Given the description of an element on the screen output the (x, y) to click on. 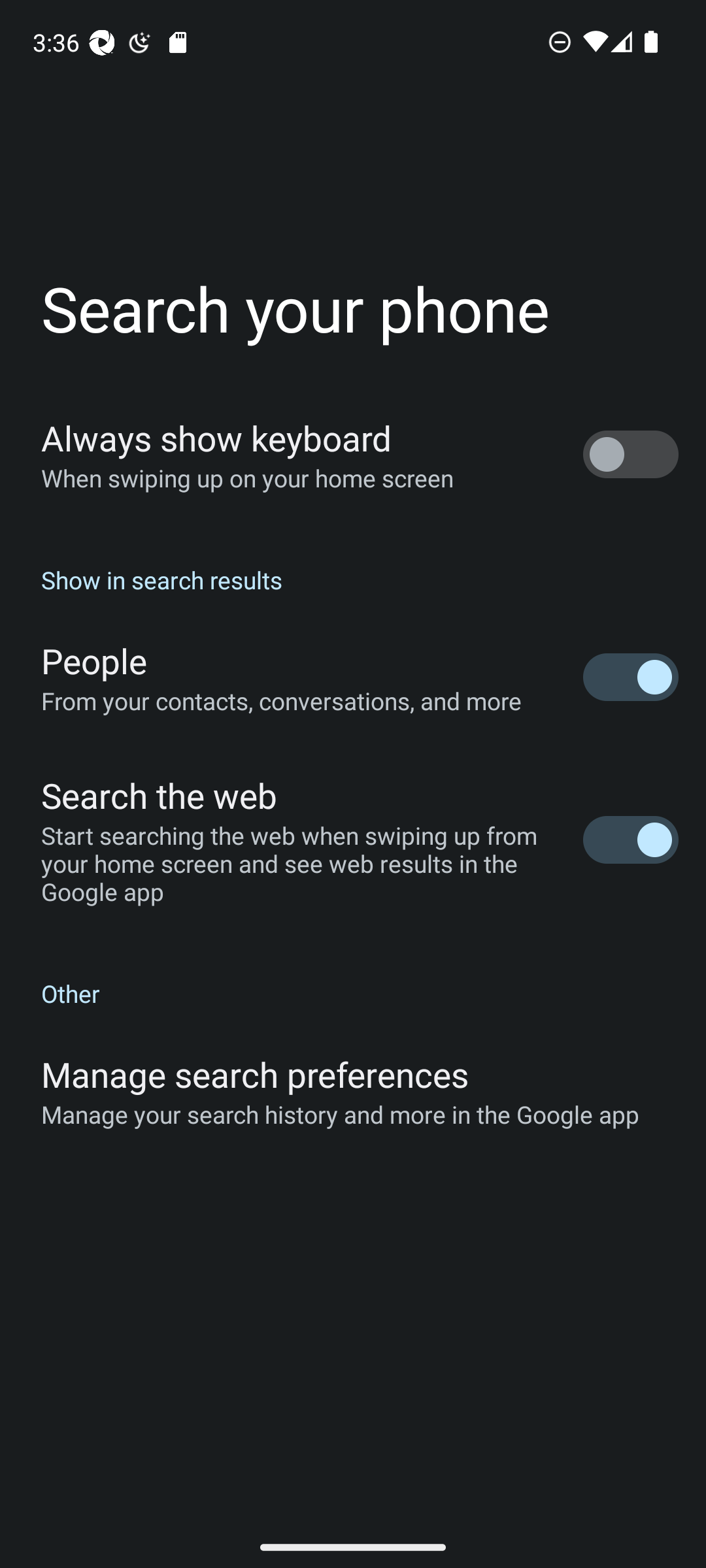
People From your contacts, conversations, and more (353, 676)
